Given the description of an element on the screen output the (x, y) to click on. 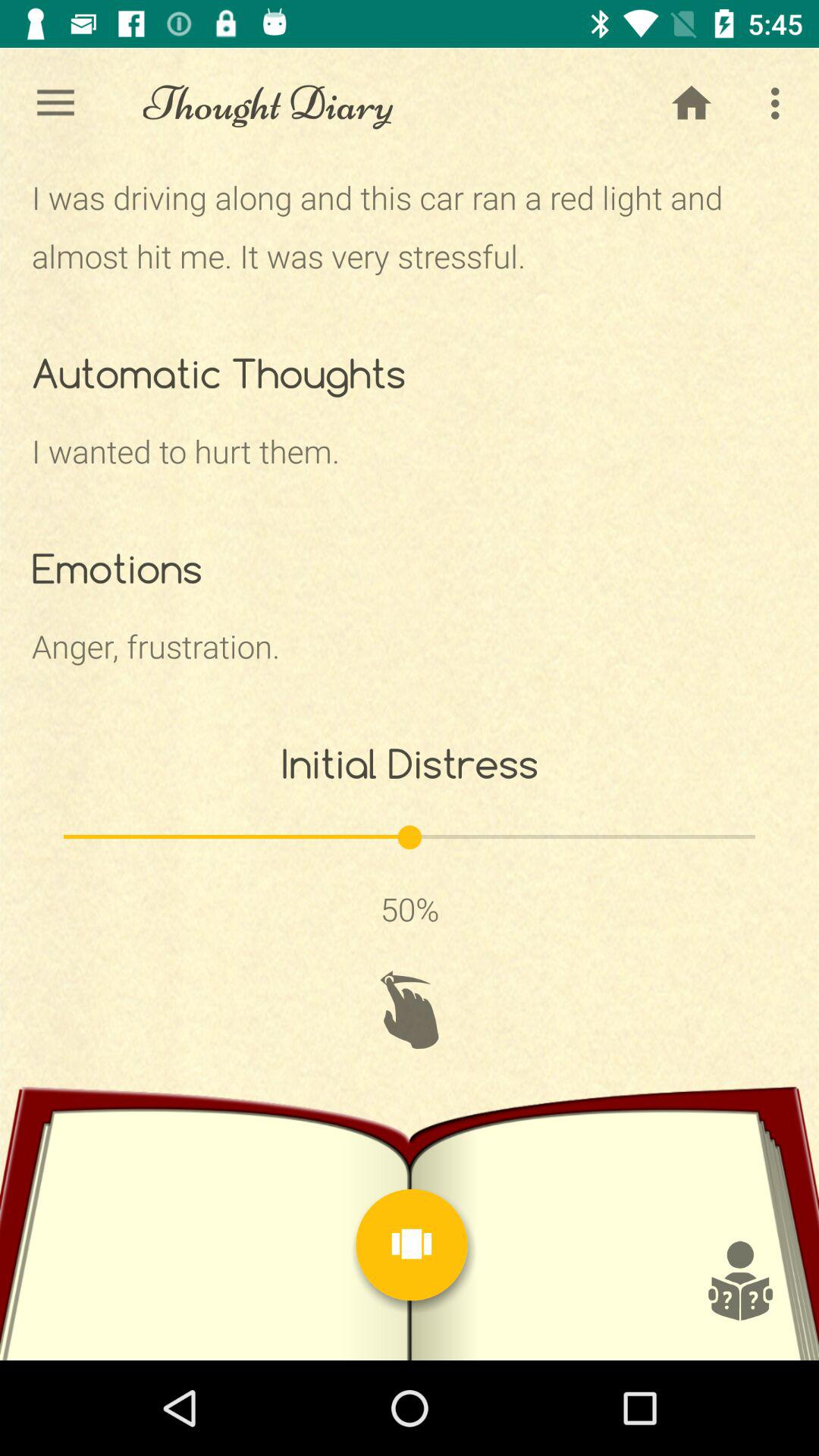
symbol page picture (739, 1280)
